Given the description of an element on the screen output the (x, y) to click on. 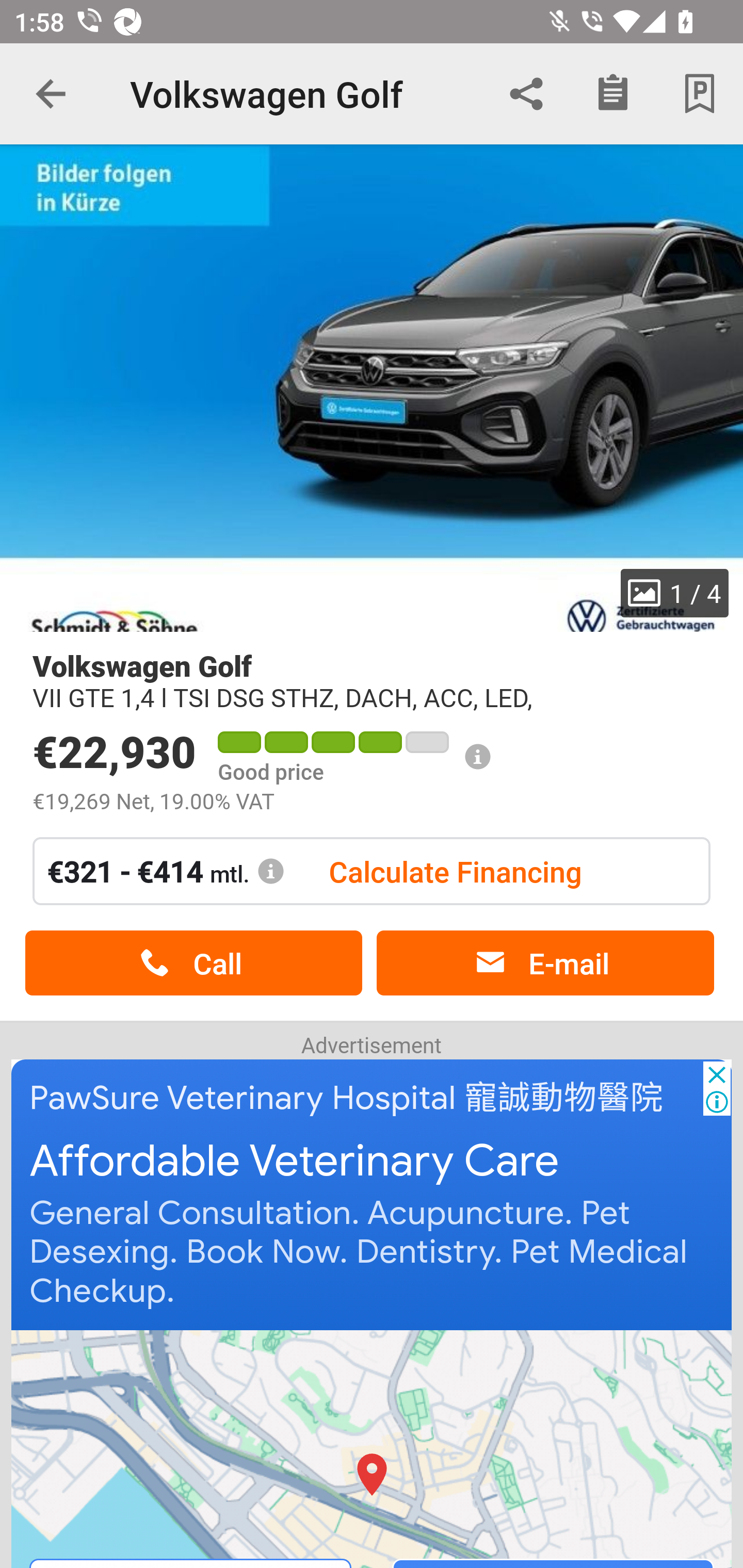
Navigate up (50, 93)
Share via (525, 93)
Checklist (612, 93)
Park (699, 93)
Calculate Financing (454, 870)
€321 - €414 mtl. (165, 870)
Call (193, 963)
E-mail (545, 963)
PawSure Veterinary Hospital 寵誠動物醫院 (346, 1097)
Affordable Veterinary Care (294, 1161)
Directions Call (372, 1448)
